Given the description of an element on the screen output the (x, y) to click on. 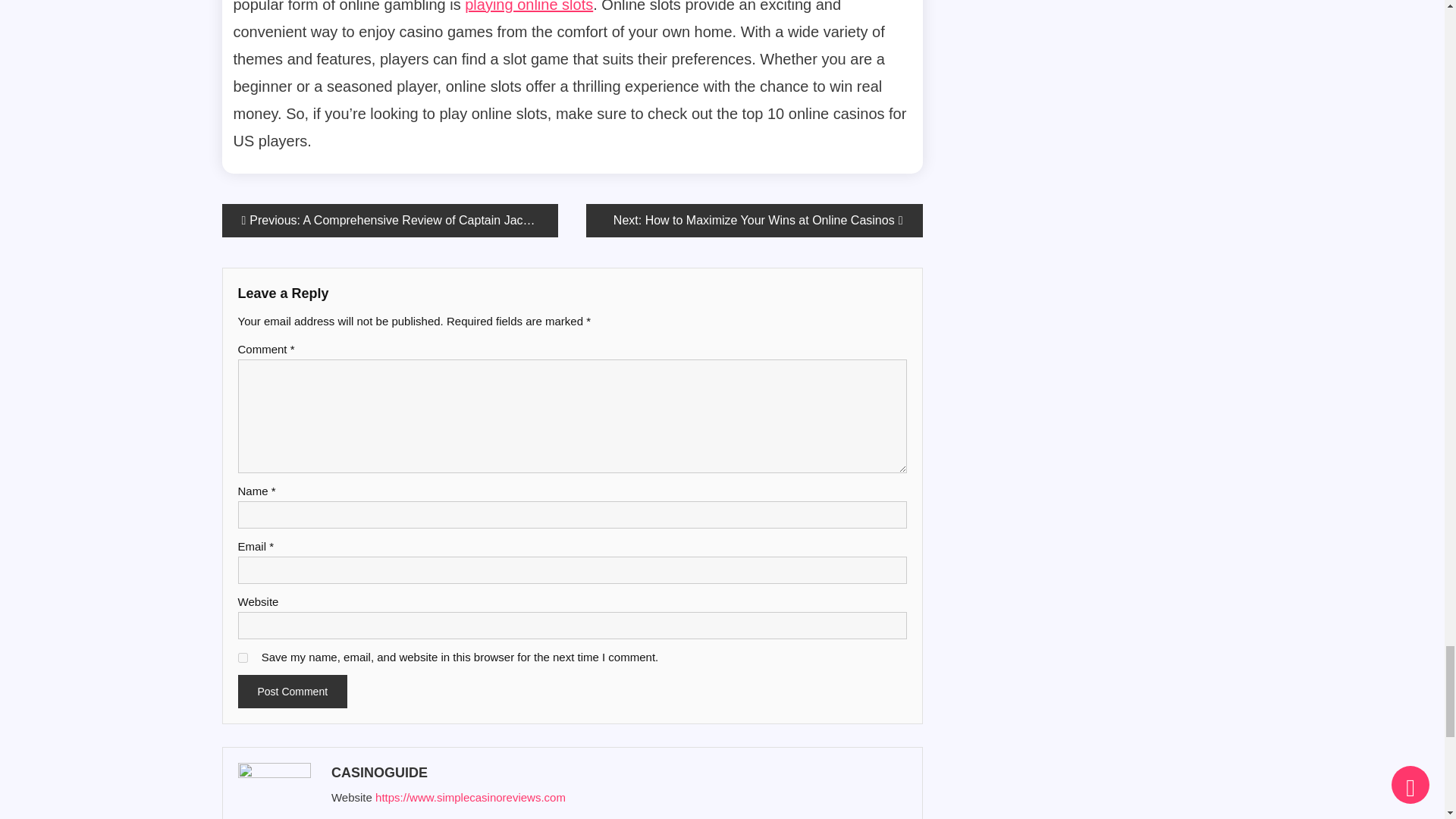
yes (242, 657)
Post Comment (292, 691)
Posts by casinoguide (615, 772)
